Given the description of an element on the screen output the (x, y) to click on. 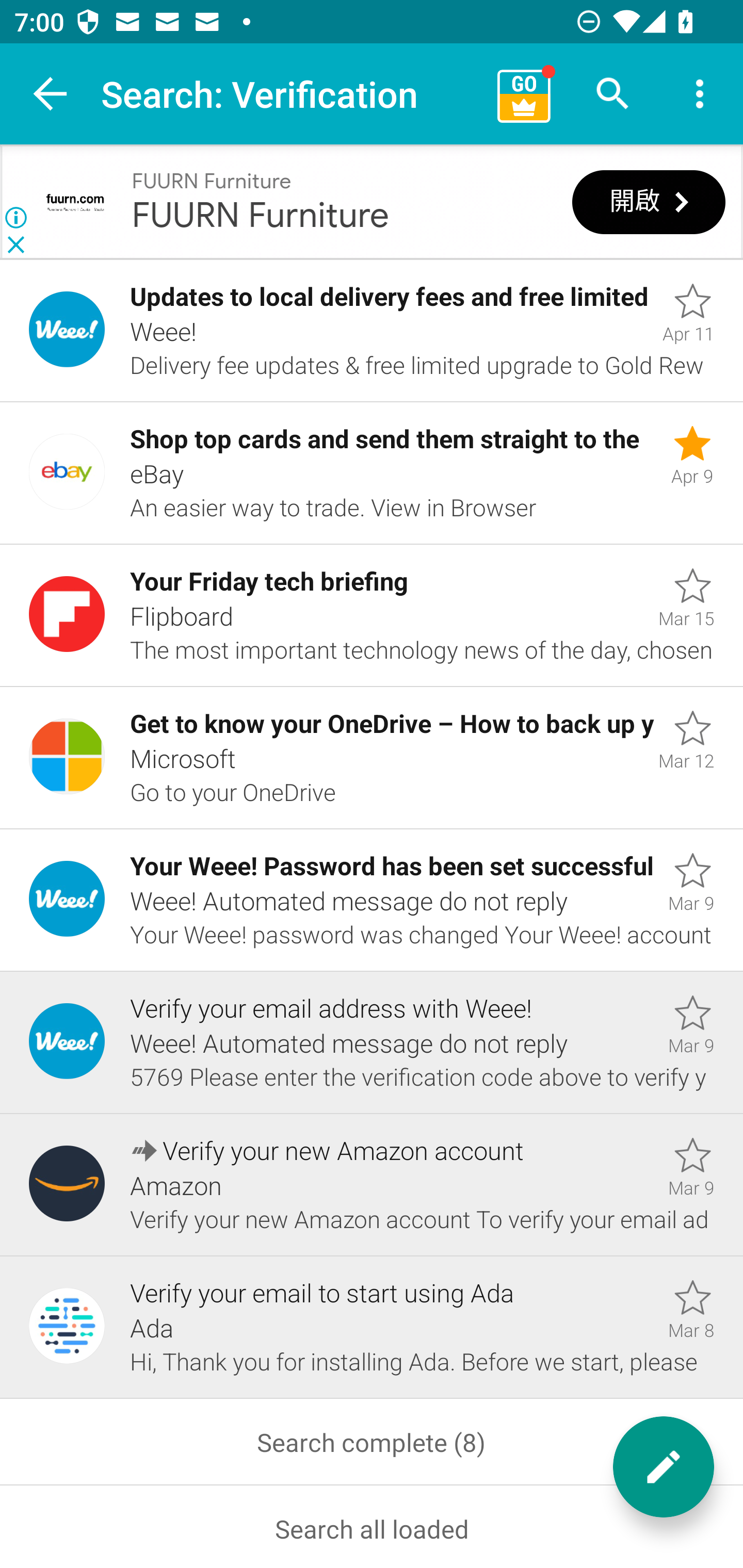
Navigate up (50, 93)
Search (612, 93)
More options (699, 93)
Search complete (8) (371, 1441)
New message (663, 1466)
Search all loaded (371, 1526)
